Given the description of an element on the screen output the (x, y) to click on. 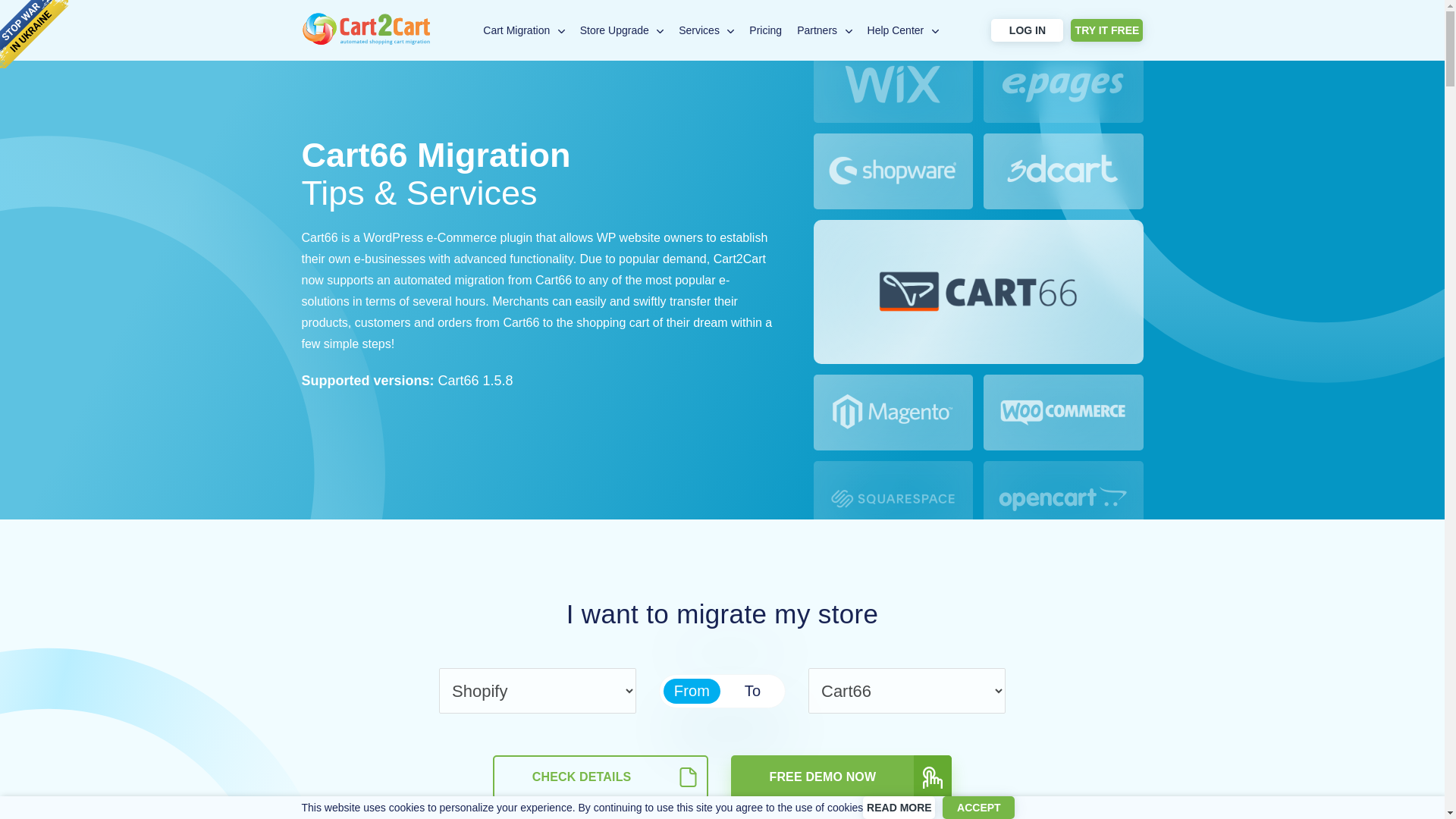
Back to Cart2Cart main page (365, 41)
Cart Migration (516, 30)
Click here to get to the main page (365, 41)
